Given the description of an element on the screen output the (x, y) to click on. 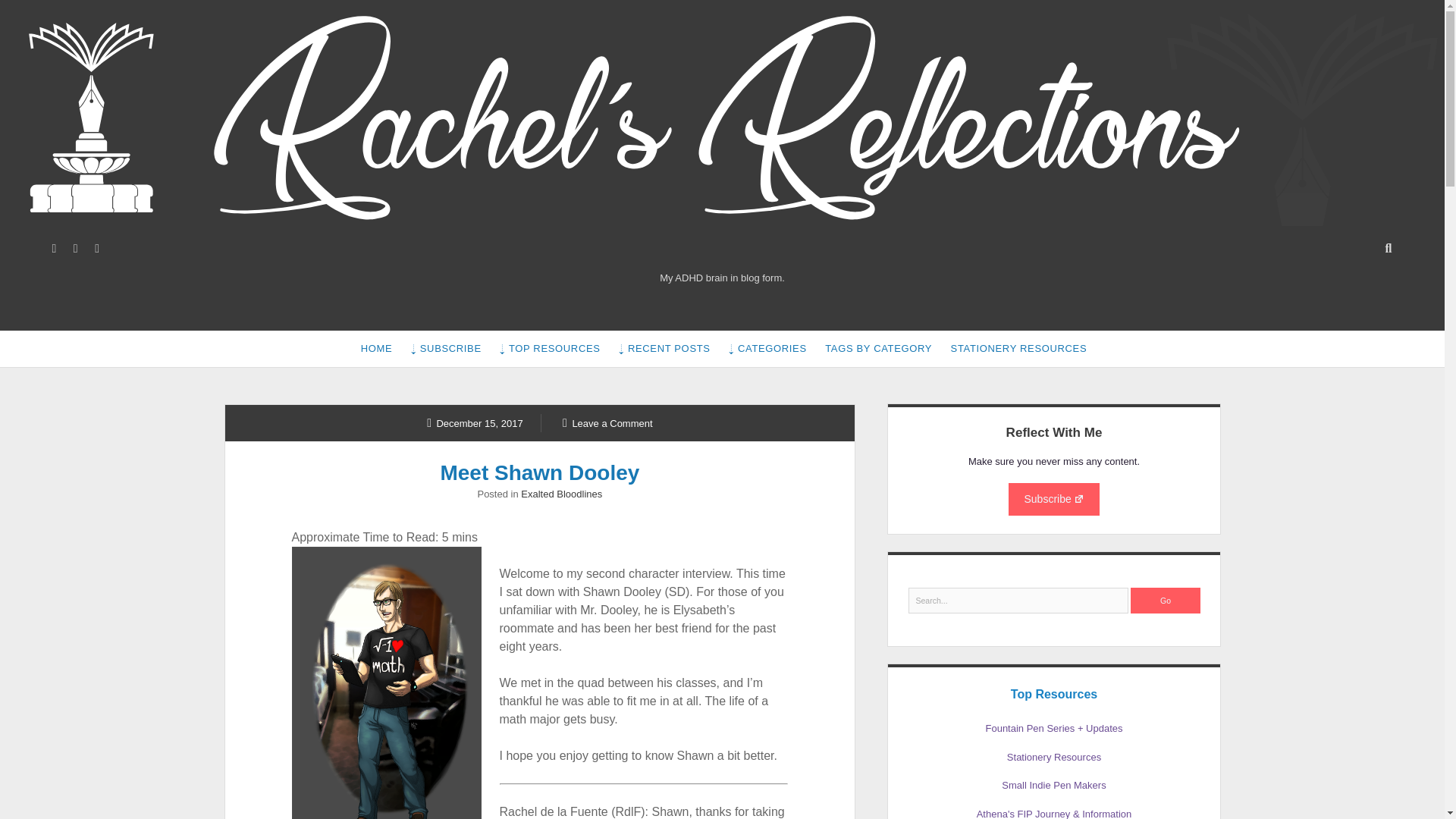
TAGS BY CATEGORY (877, 348)
Go (1165, 600)
Leave a Comment (607, 422)
December 15, 2017 (474, 422)
Posts from December (474, 422)
Exalted Bloodlines (561, 493)
Comments for this post (607, 422)
HOME (376, 348)
Go (1165, 600)
STATIONERY RESOURCES (1019, 348)
View all posts in Exalted Bloodlines (561, 493)
